Given the description of an element on the screen output the (x, y) to click on. 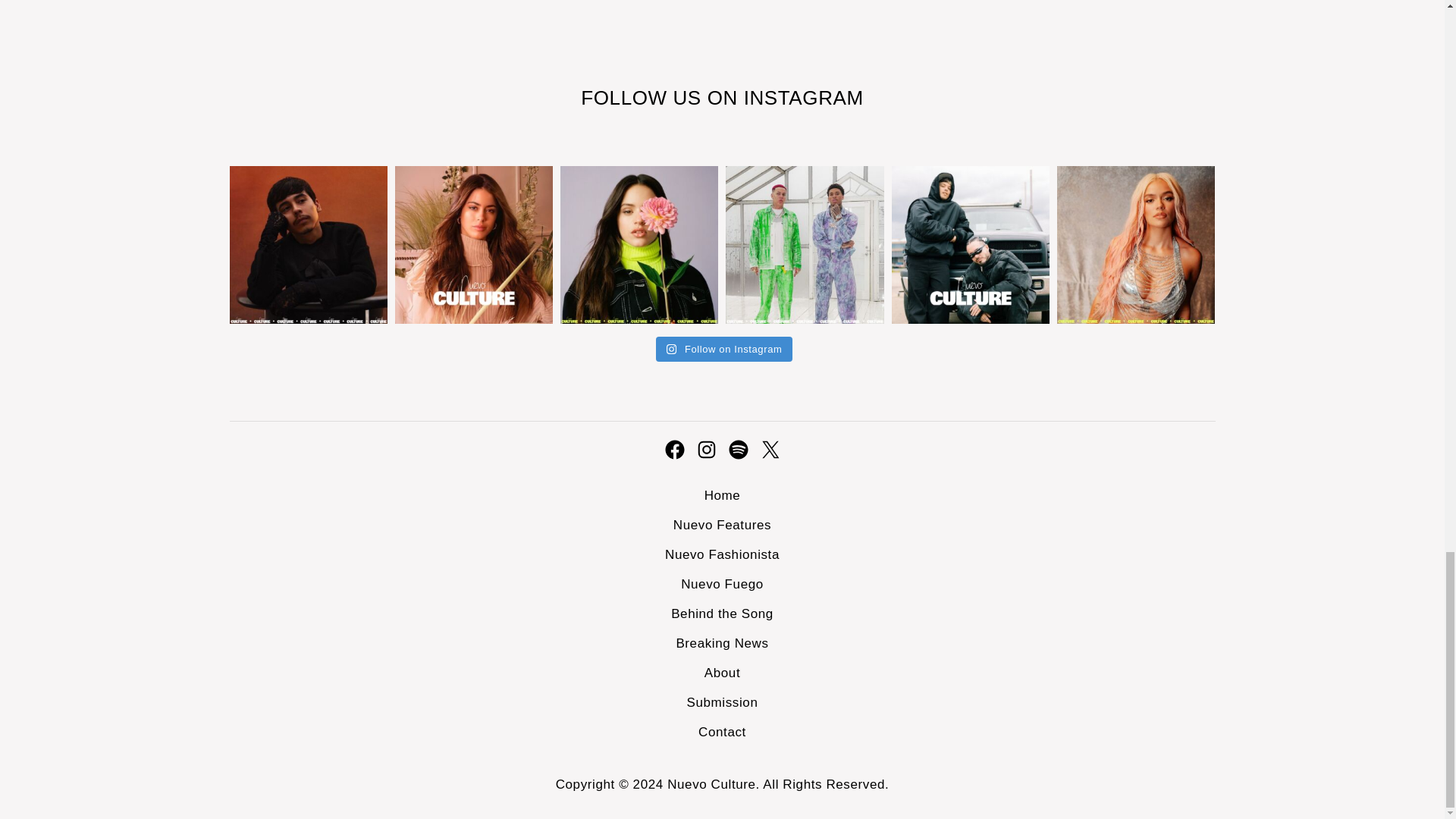
Home (722, 495)
X (769, 449)
Nuevo Features (721, 524)
Spotify (737, 449)
FOLLOW US ON  (661, 97)
Follow on Instagram (724, 349)
Facebook (673, 449)
Instagram (705, 449)
